Given the description of an element on the screen output the (x, y) to click on. 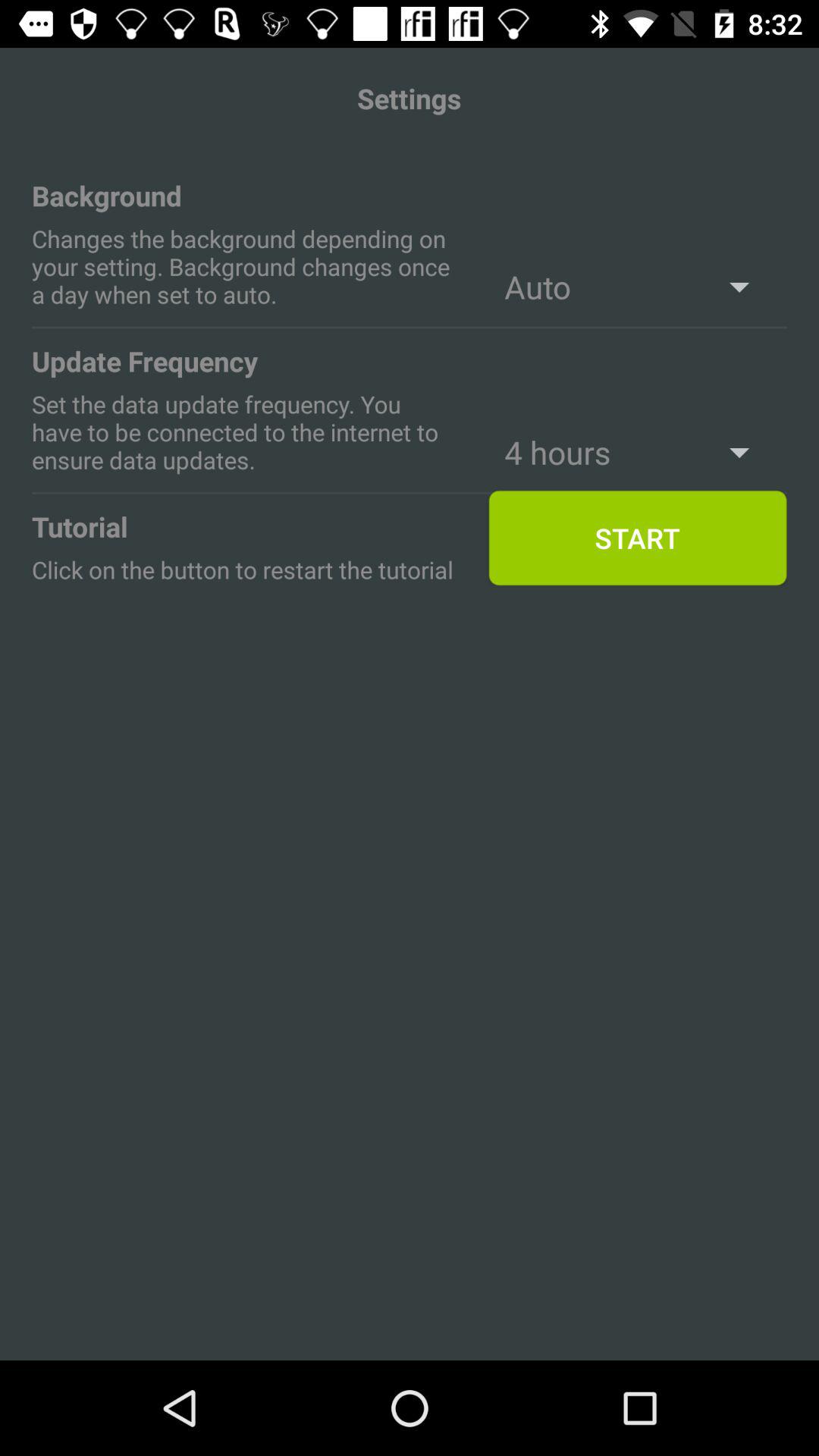
select the text above start (637, 452)
click on the start button (637, 538)
